Given the description of an element on the screen output the (x, y) to click on. 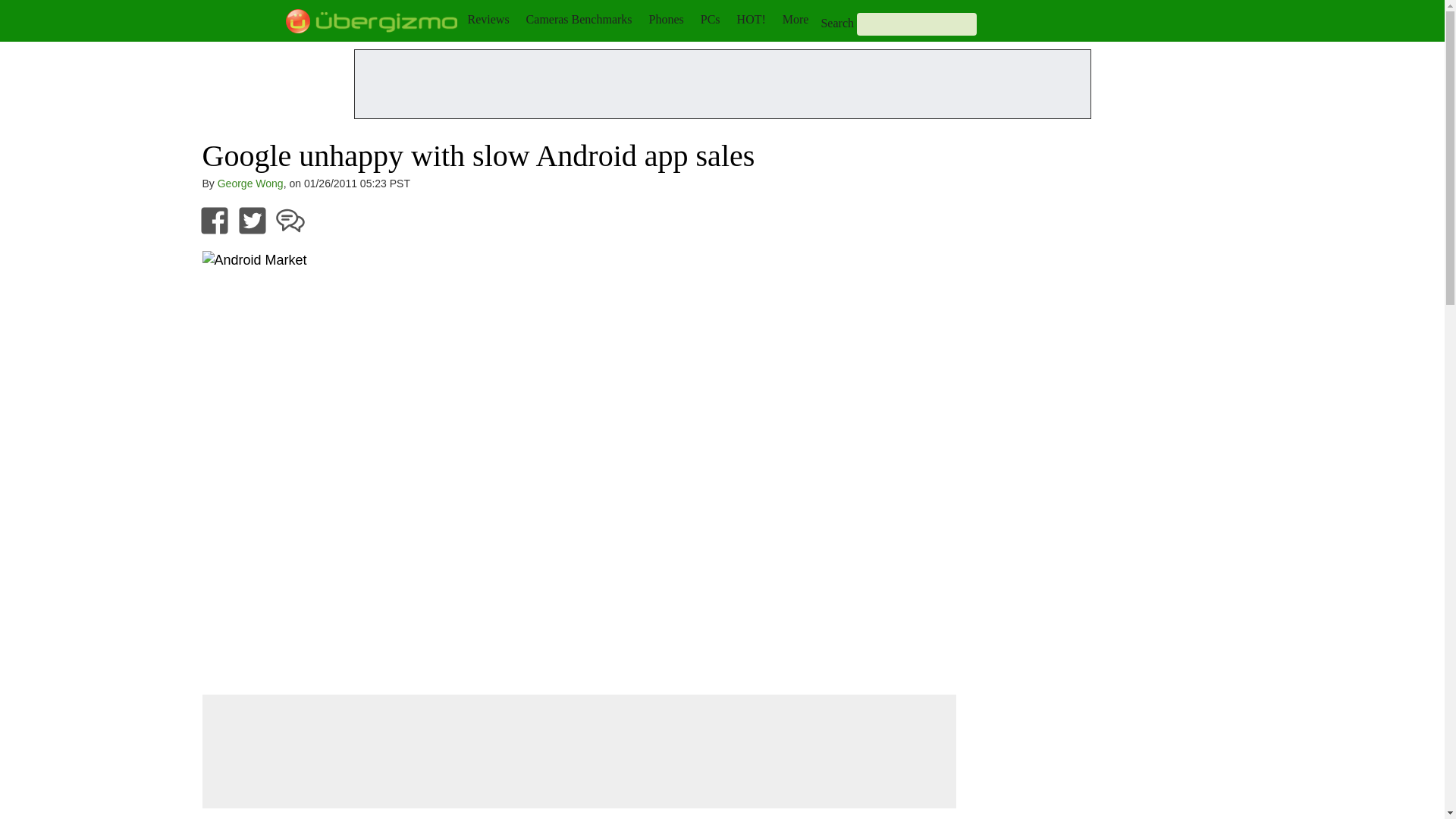
PCs (710, 19)
Reviews (487, 19)
Cameras Benchmarks (578, 19)
Phones (666, 19)
